Given the description of an element on the screen output the (x, y) to click on. 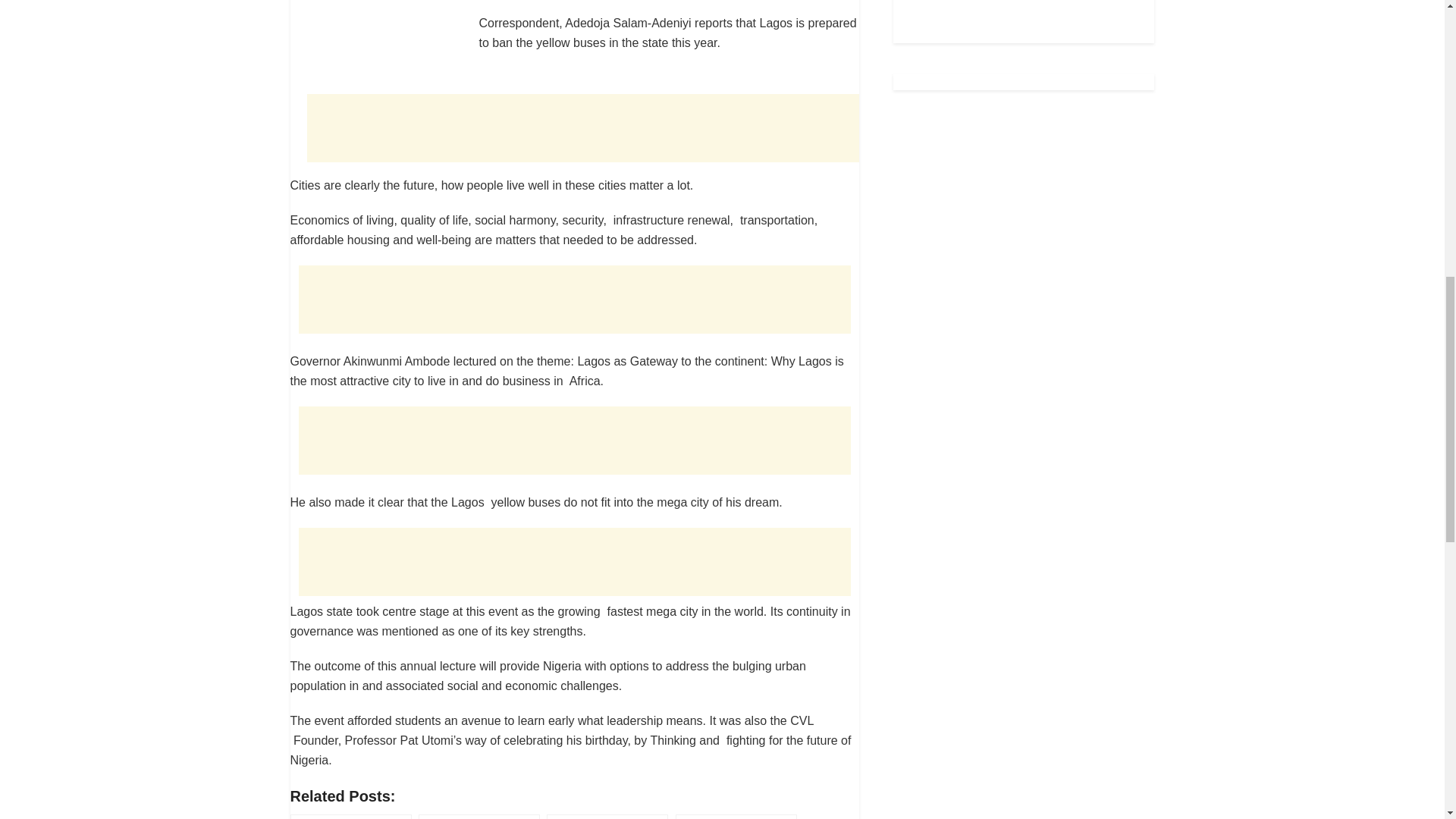
Ambode to roll out new commercial buses in February (349, 816)
Sokoto saves N1.6bn from removing ghost workers (607, 816)
